Given the description of an element on the screen output the (x, y) to click on. 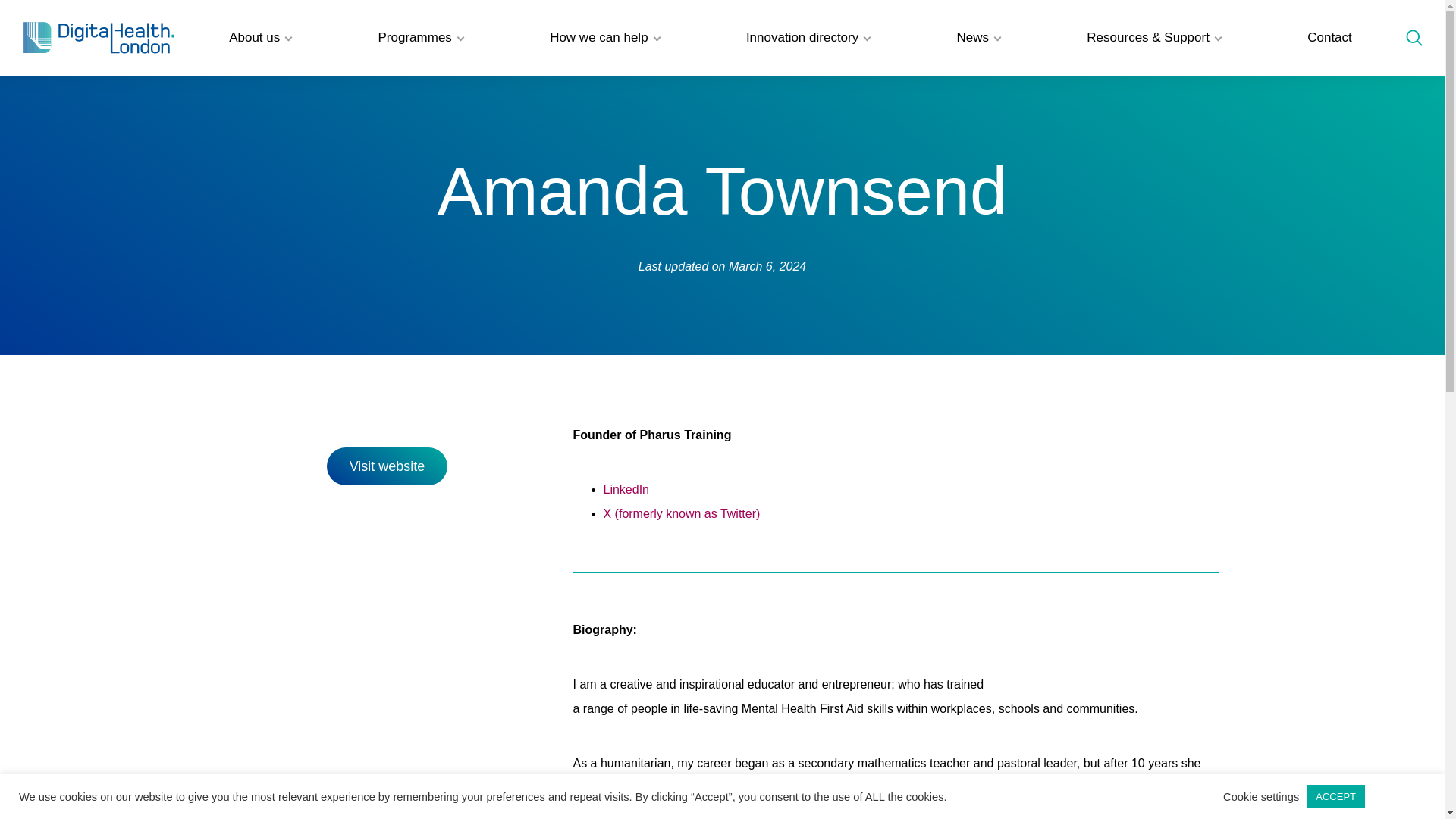
Innovation directory (807, 38)
Search site (1413, 37)
Programmes (420, 38)
Contact (1328, 38)
LinkedIn (626, 489)
About us (259, 38)
How we can help (603, 38)
DigitalHealth.London (98, 37)
Visit website (387, 466)
